Given the description of an element on the screen output the (x, y) to click on. 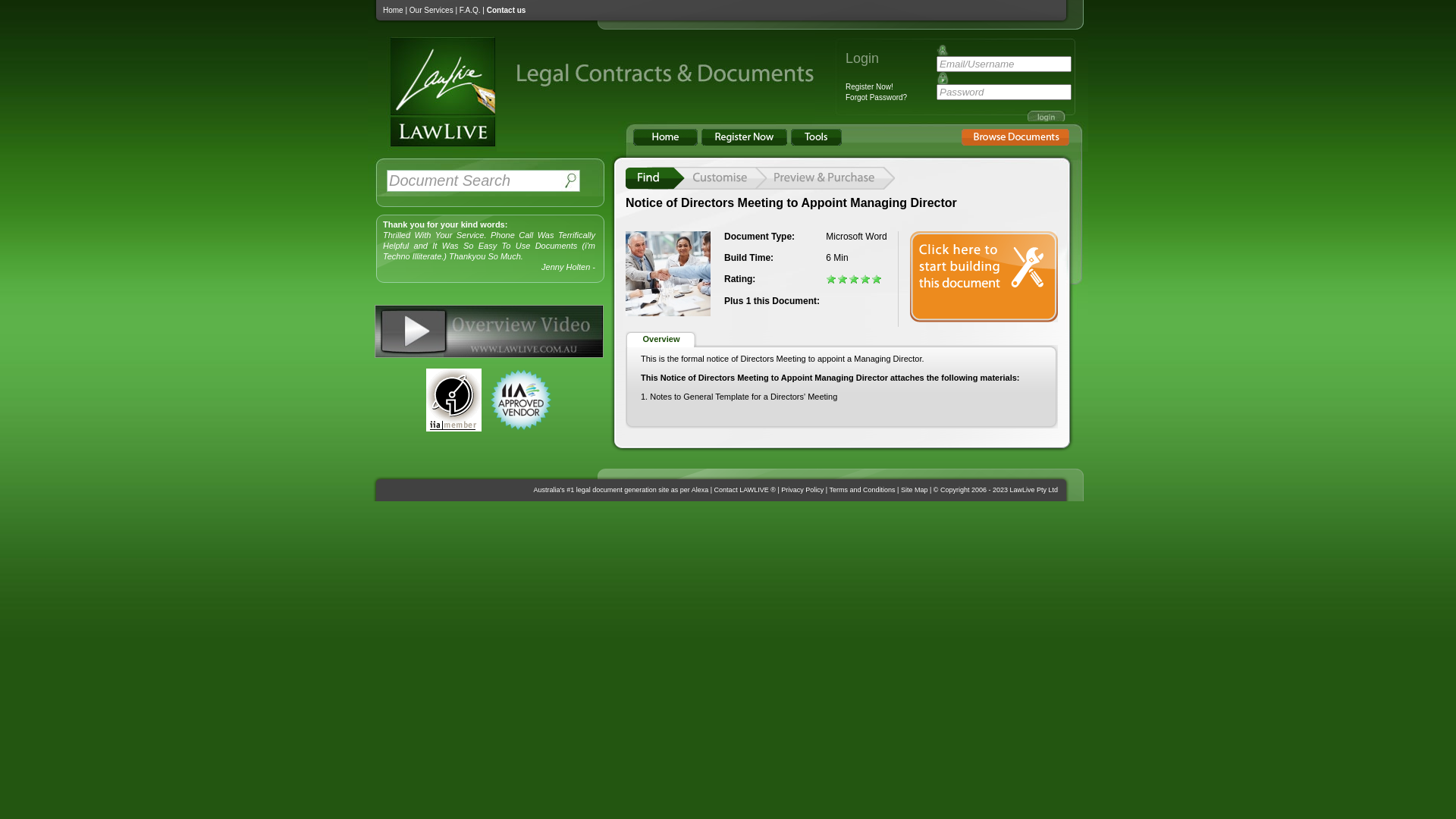
LawLive Element type: hover (431, 146)
F.A.Q. Element type: text (469, 10)
Privacy Policy Element type: text (802, 489)
Site Map Element type: text (914, 489)
Document Search Element type: text (473, 180)
Forgot Password? Element type: text (875, 97)
Terms and Conditions Element type: text (862, 489)
Register Now! Element type: text (869, 86)
Contact us Element type: text (506, 10)
Our Services Element type: text (431, 10)
Overview Element type: text (660, 339)
Home Element type: text (392, 10)
